Given the description of an element on the screen output the (x, y) to click on. 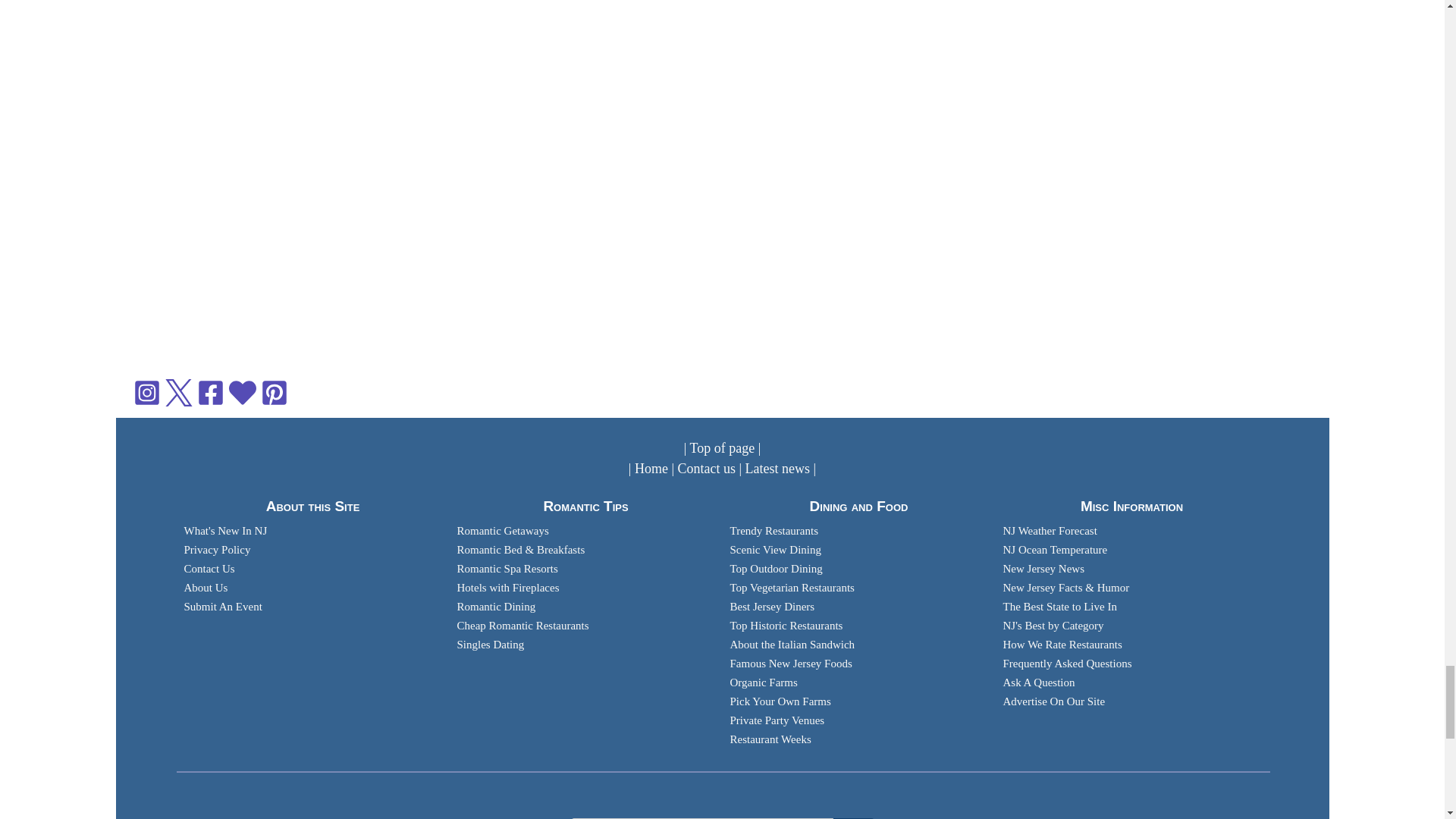
DuckDuckGo Search (852, 818)
Follow us on Linkedin (241, 391)
